Given the description of an element on the screen output the (x, y) to click on. 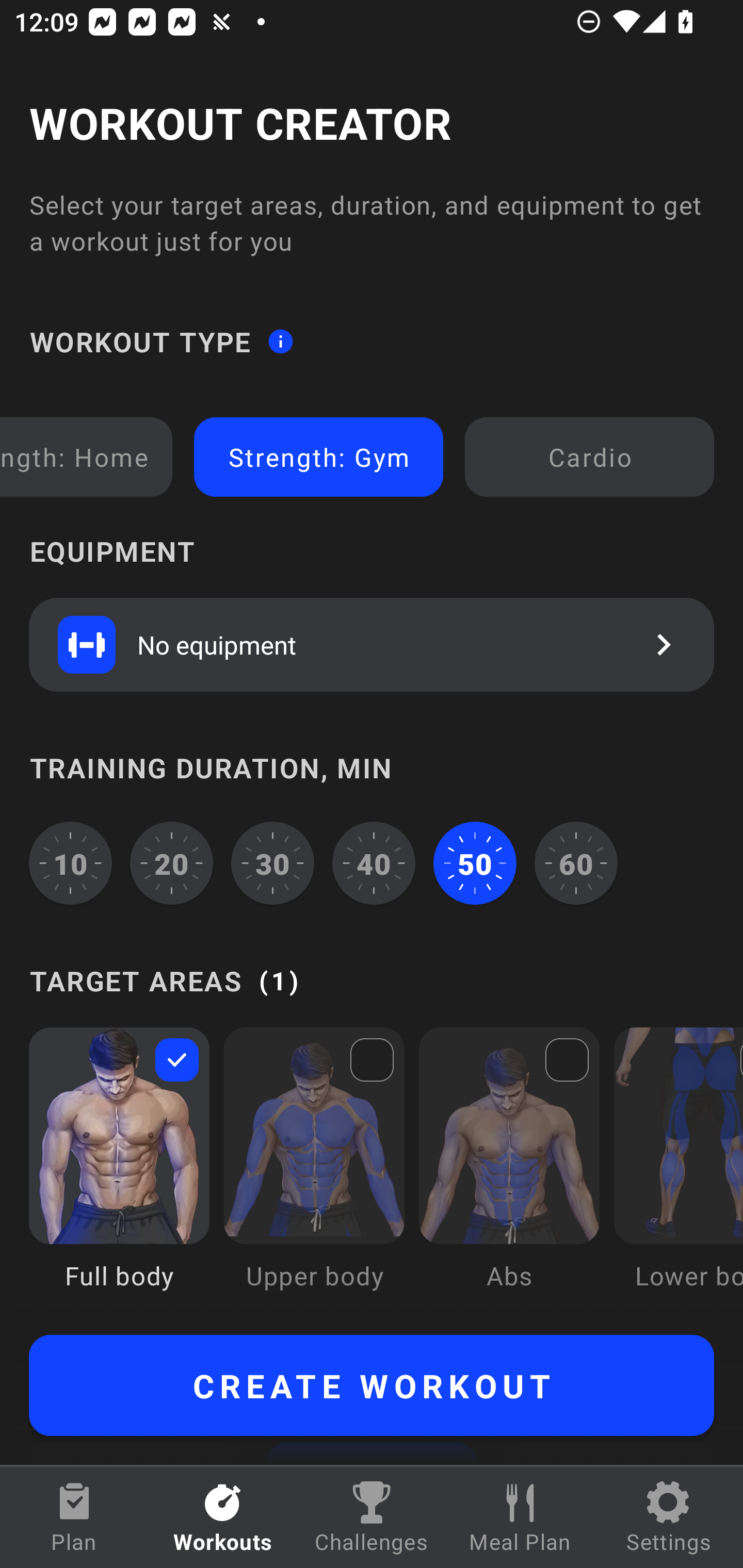
Workout type information button (280, 340)
Cardio (588, 457)
No equipment (371, 644)
10 (70, 863)
20 (171, 863)
30 (272, 863)
40 (373, 863)
50 (474, 863)
60 (575, 863)
Upper body (313, 1172)
Abs (509, 1172)
Lower body (678, 1172)
CREATE WORKOUT (371, 1385)
 Plan  (74, 1517)
 Challenges  (371, 1517)
 Meal Plan  (519, 1517)
 Settings  (668, 1517)
